Given the description of an element on the screen output the (x, y) to click on. 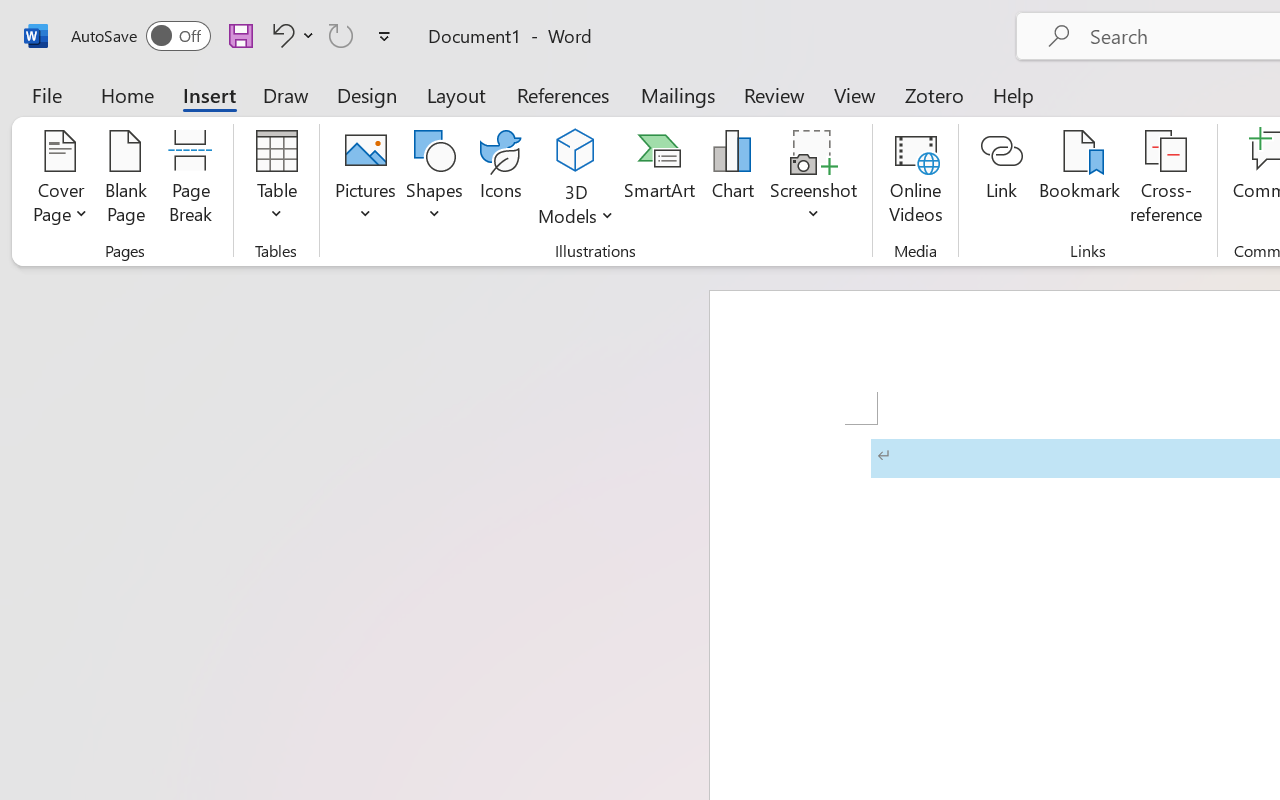
SmartArt... (659, 179)
3D Models (576, 151)
Undo Apply Quick Style (290, 35)
Chart... (732, 179)
Undo Apply Quick Style (280, 35)
Shapes (435, 179)
Can't Repeat (341, 35)
Cover Page (60, 179)
Table (276, 179)
Cross-reference... (1165, 179)
